Given the description of an element on the screen output the (x, y) to click on. 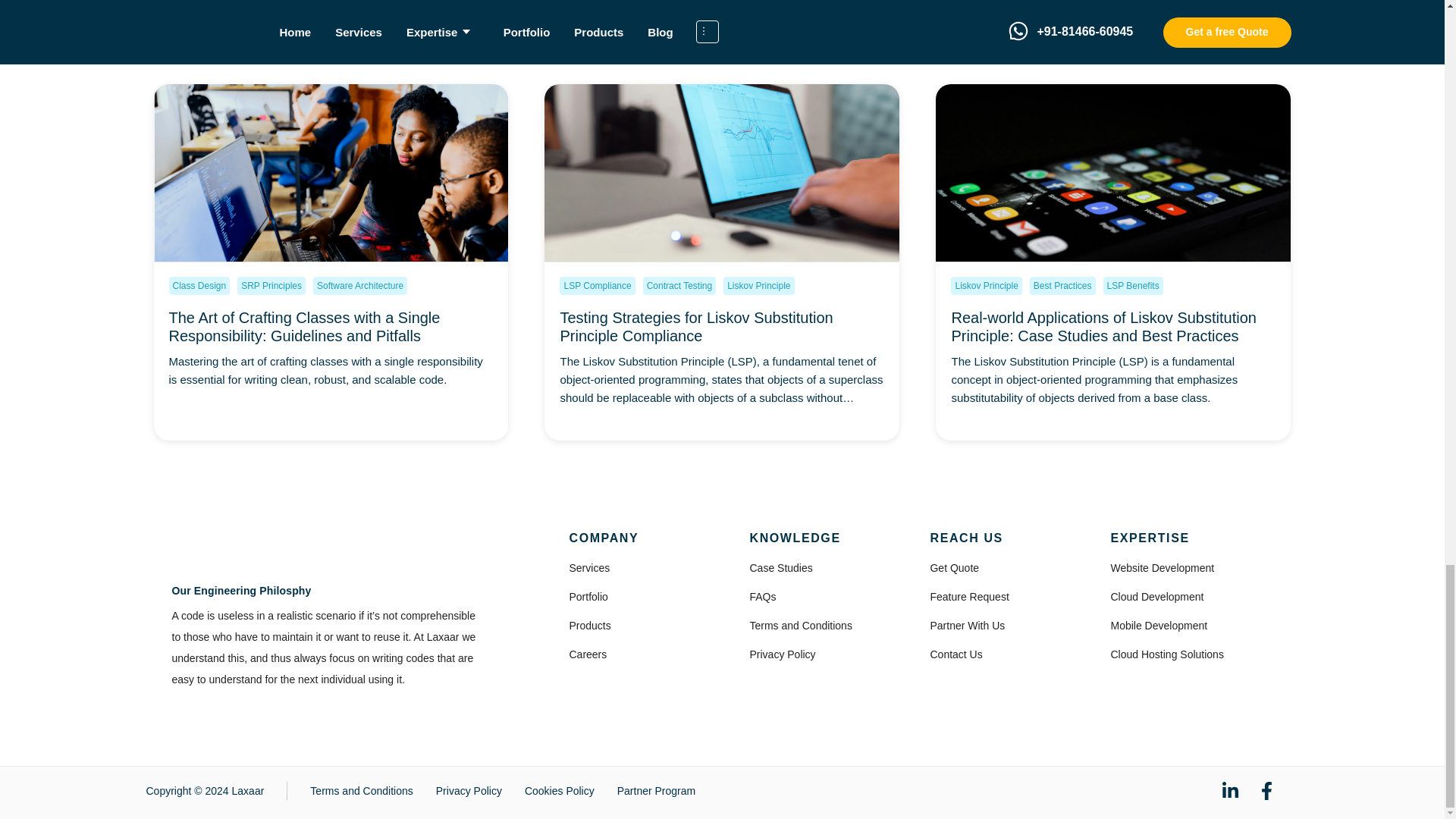
Get Quote (954, 567)
Terms and Conditions (800, 625)
Privacy Policy (782, 654)
Terms and Conditions (361, 790)
Partner With Us (967, 625)
Cloud Development (1156, 596)
Portfolio (588, 596)
Services (589, 567)
Products (589, 625)
